Given the description of an element on the screen output the (x, y) to click on. 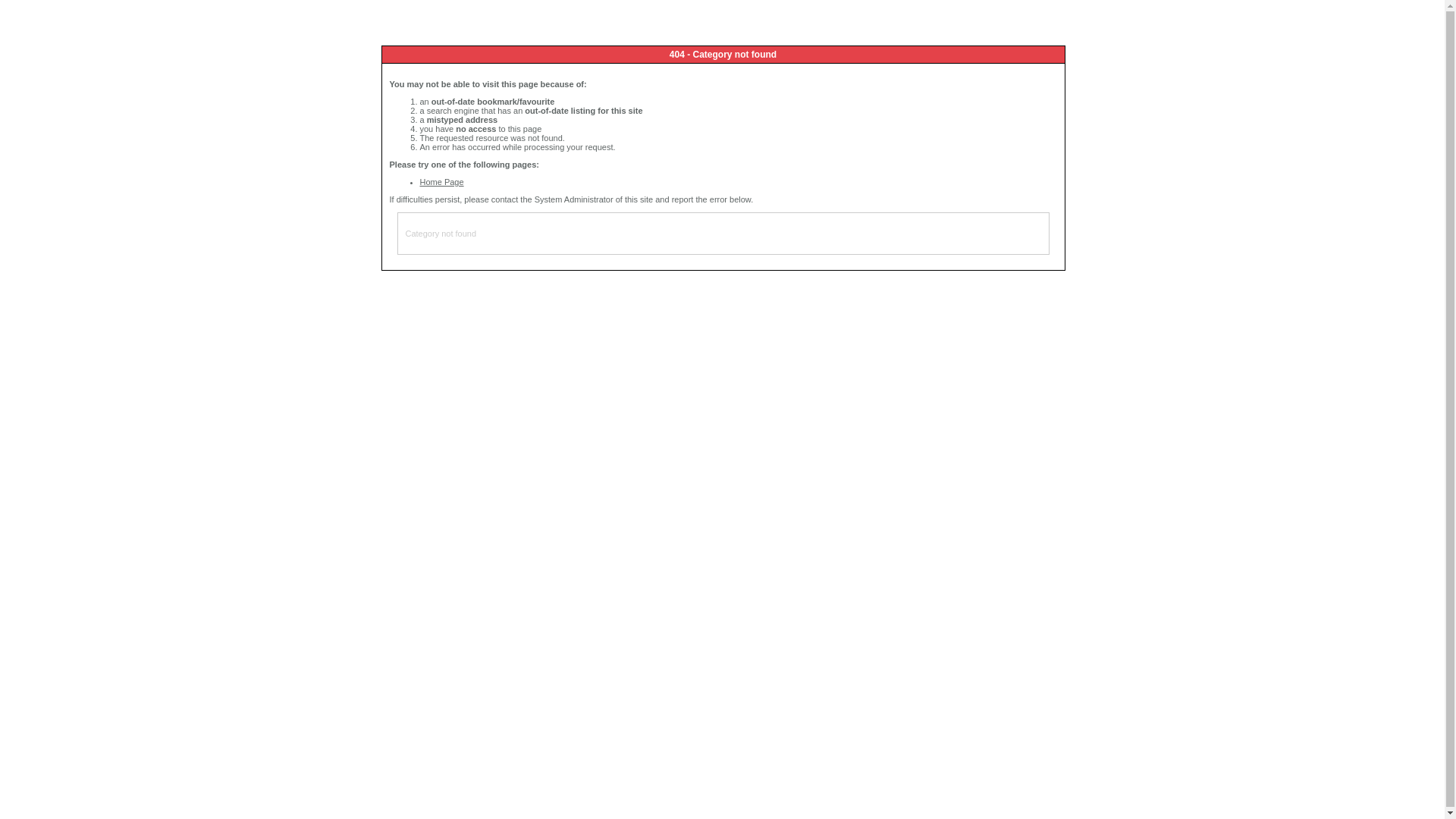
Home Page Element type: text (442, 181)
